Given the description of an element on the screen output the (x, y) to click on. 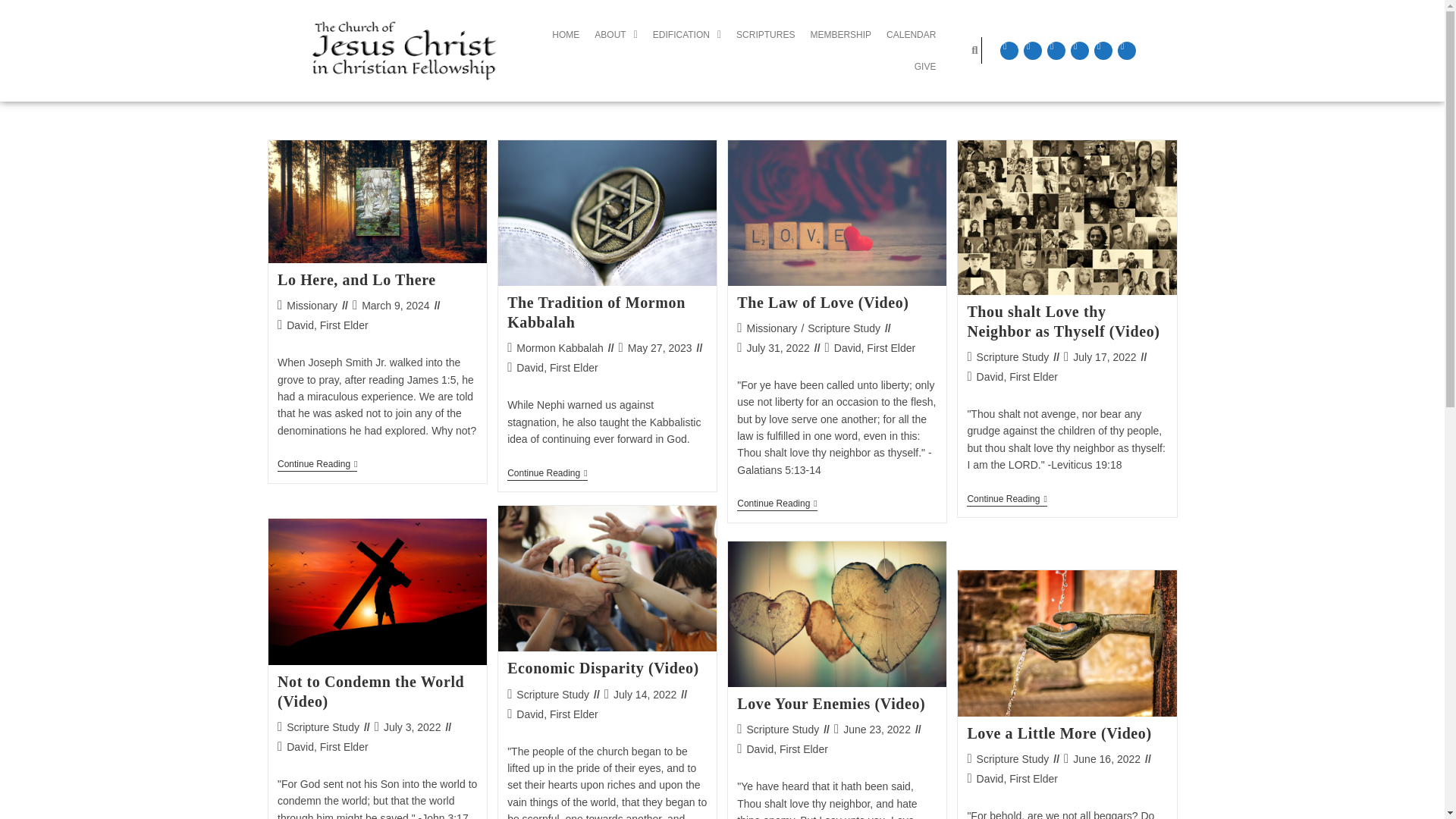
EDIFICATION (687, 34)
The Tradition of Mormon Kabbalah (595, 312)
Posts by David, First Elder (874, 347)
Lo Here, and Lo There (356, 279)
David, First Elder (327, 325)
Mormon Kabbalah (559, 347)
David, First Elder (556, 367)
SCRIPTURES (765, 34)
Missionary (311, 305)
Posts by David, First Elder (1017, 377)
